Given the description of an element on the screen output the (x, y) to click on. 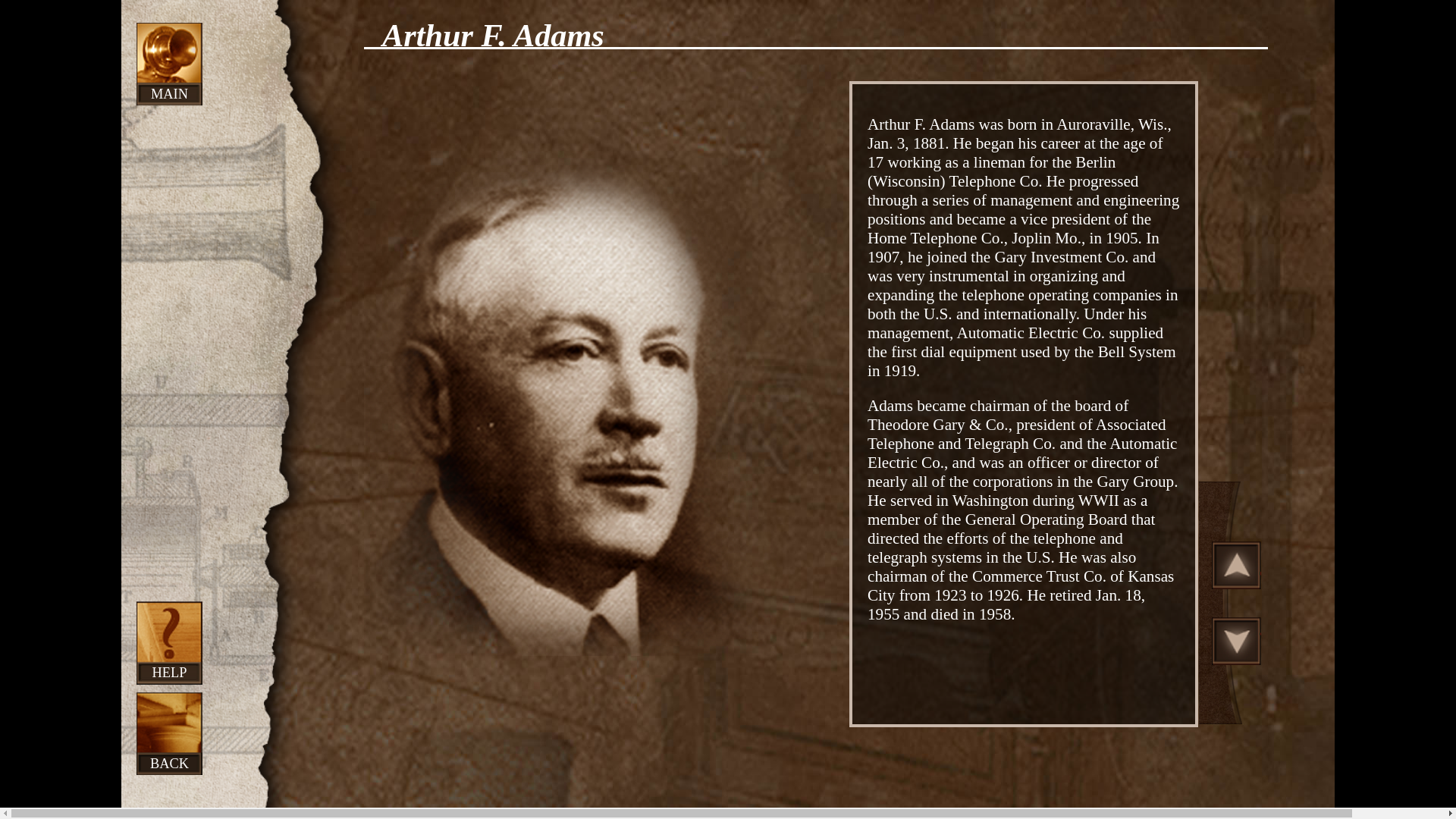
Scroll Down (1236, 639)
Scroll Up (1236, 563)
